Given the description of an element on the screen output the (x, y) to click on. 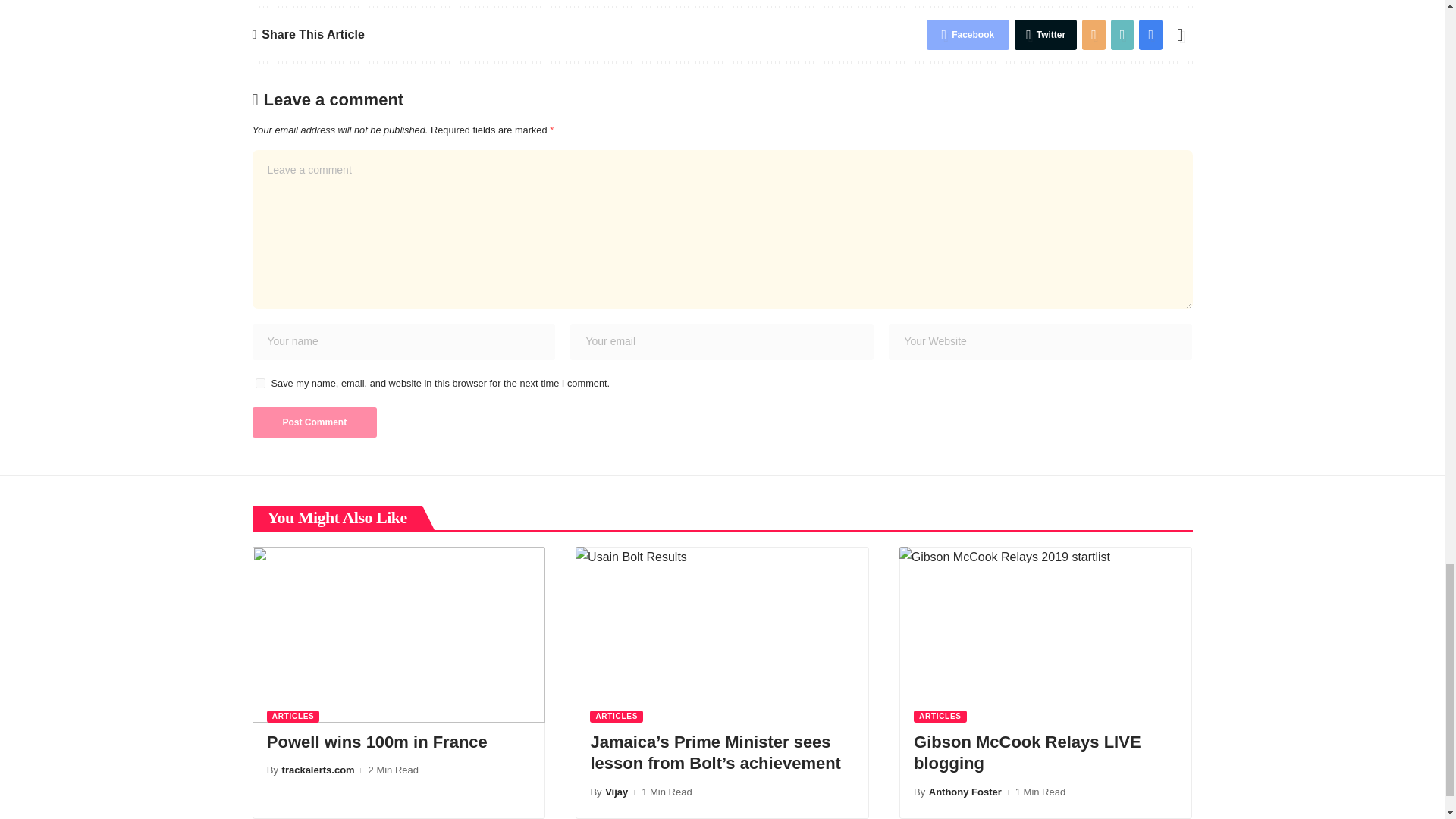
Powell wins 100m in France (397, 634)
Gibson McCook Relays LIVE blogging (1045, 634)
yes (259, 383)
Post Comment (314, 422)
